Given the description of an element on the screen output the (x, y) to click on. 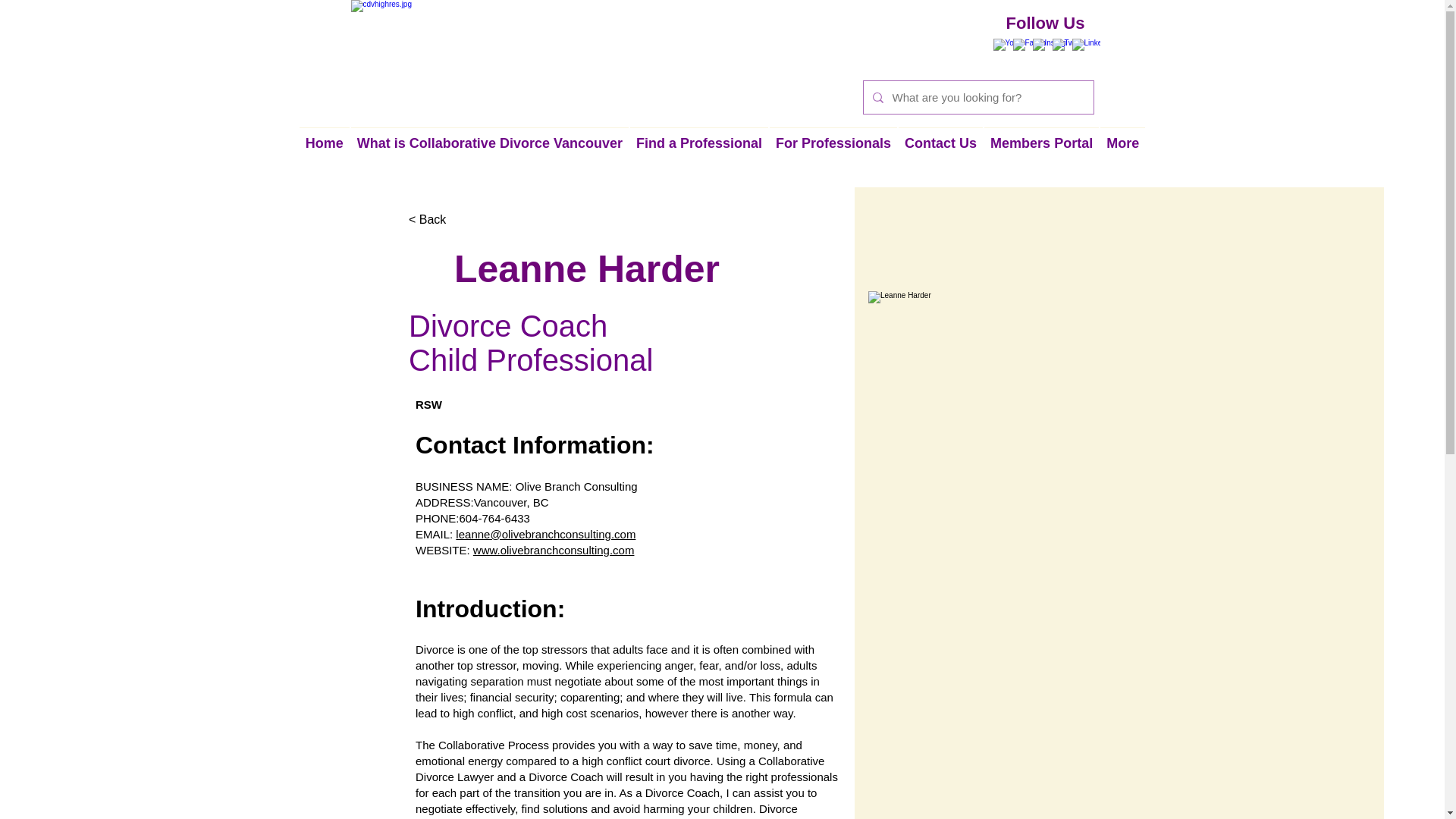
Contact Us (941, 151)
What is Collaborative Divorce Vancouver (489, 151)
Home (324, 151)
For Professionals (833, 151)
Members Portal (1041, 151)
Business Headshot - 2014 - 2MP.jpeg (1024, 448)
Find a Professional (698, 151)
